Given the description of an element on the screen output the (x, y) to click on. 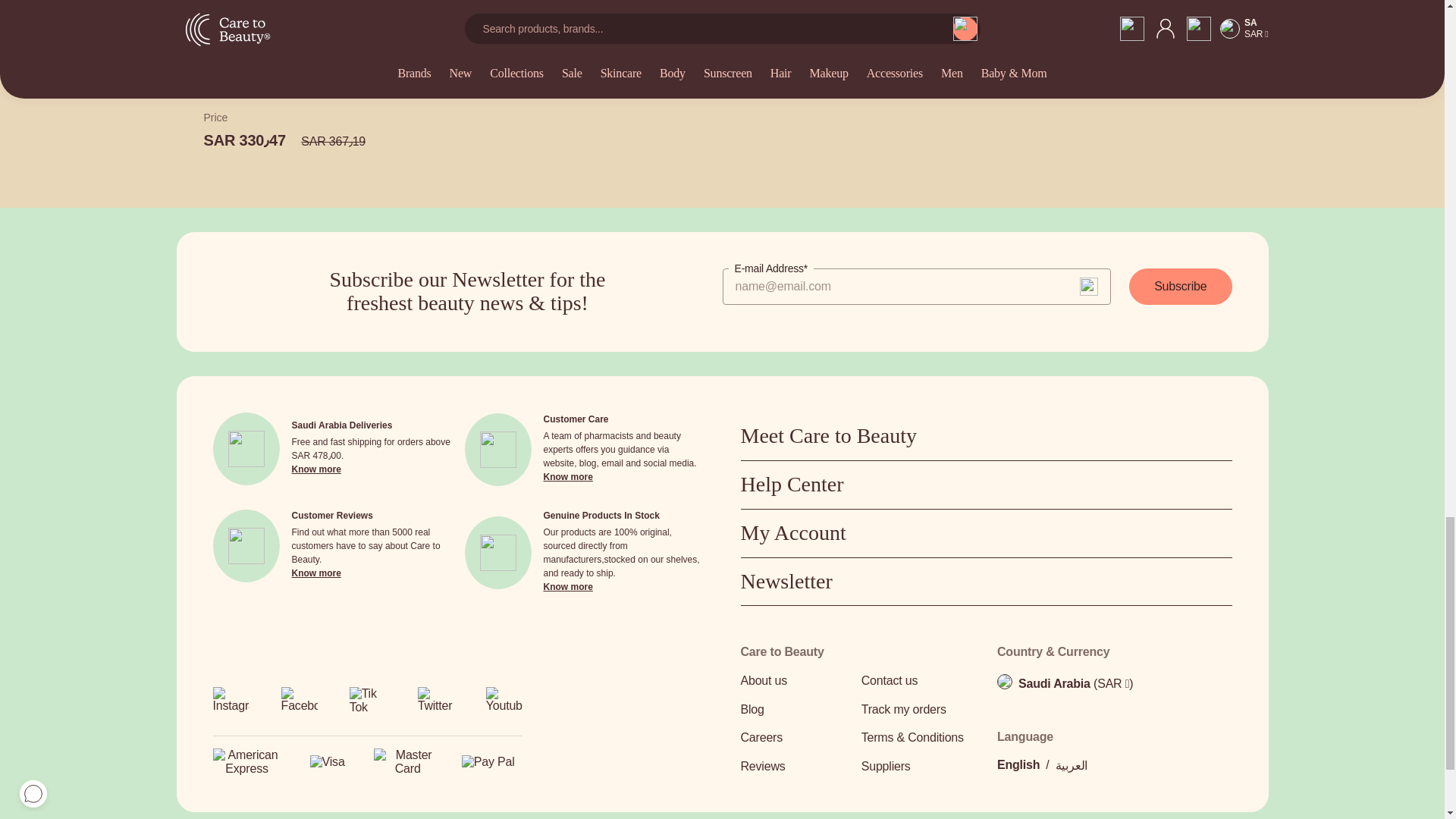
My Account (985, 533)
Facebook (299, 705)
Contact us (916, 680)
Careers (795, 737)
About us (795, 680)
Instagram (230, 699)
Suppliers (916, 766)
Instagram (230, 705)
Blog (795, 709)
Help Center (985, 484)
Track my orders (916, 709)
Meet Care to Beauty (985, 436)
Newsletter (985, 581)
Reviews (795, 766)
